Given the description of an element on the screen output the (x, y) to click on. 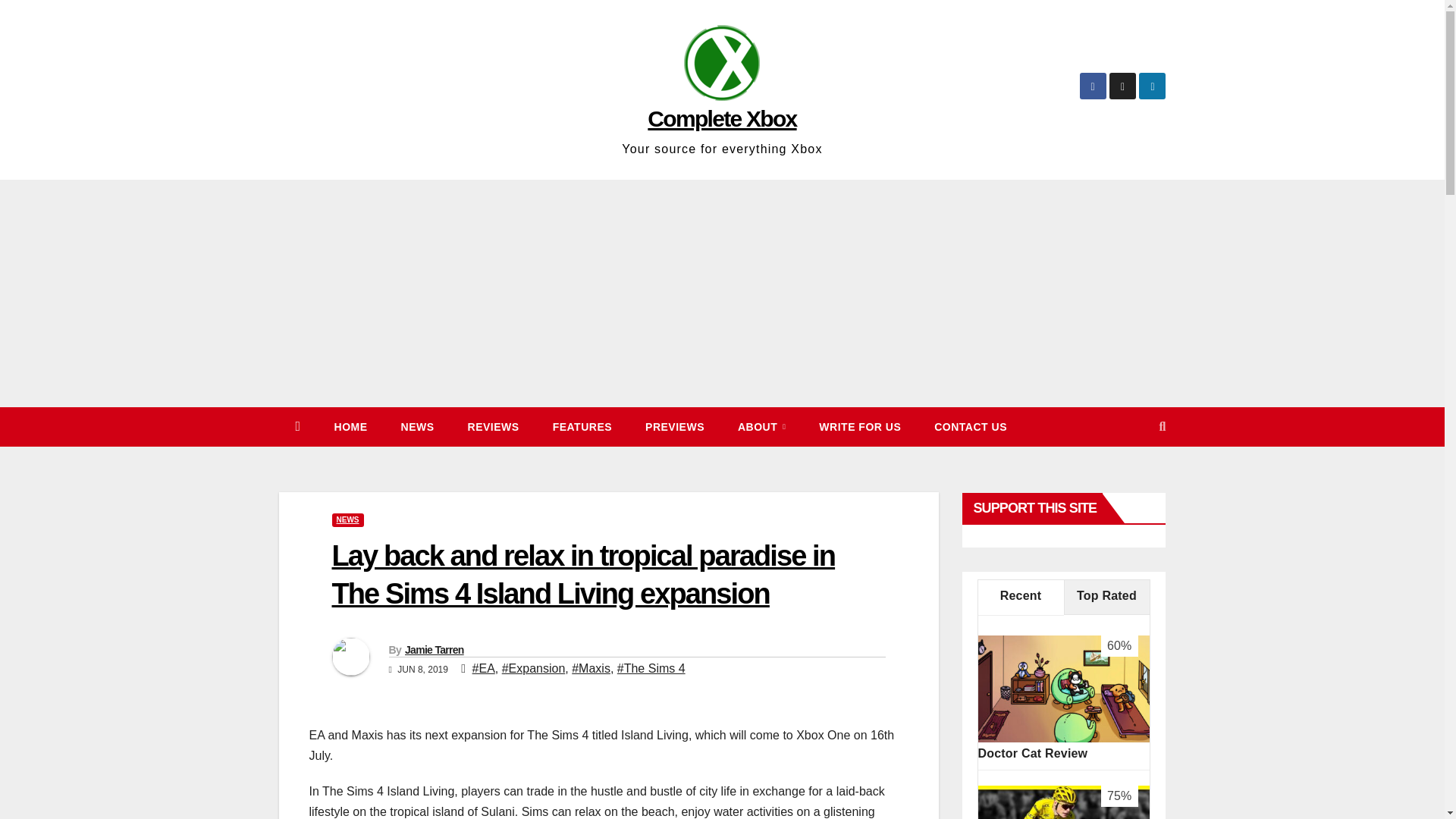
Complete Xbox (721, 118)
NEWS (417, 426)
REVIEWS (493, 426)
ABOUT (761, 426)
PREVIEWS (674, 426)
NEWS (347, 520)
Write for us (859, 426)
Previews (674, 426)
CONTACT US (970, 426)
Contact us (970, 426)
About (761, 426)
News (417, 426)
Reviews (493, 426)
